Given the description of an element on the screen output the (x, y) to click on. 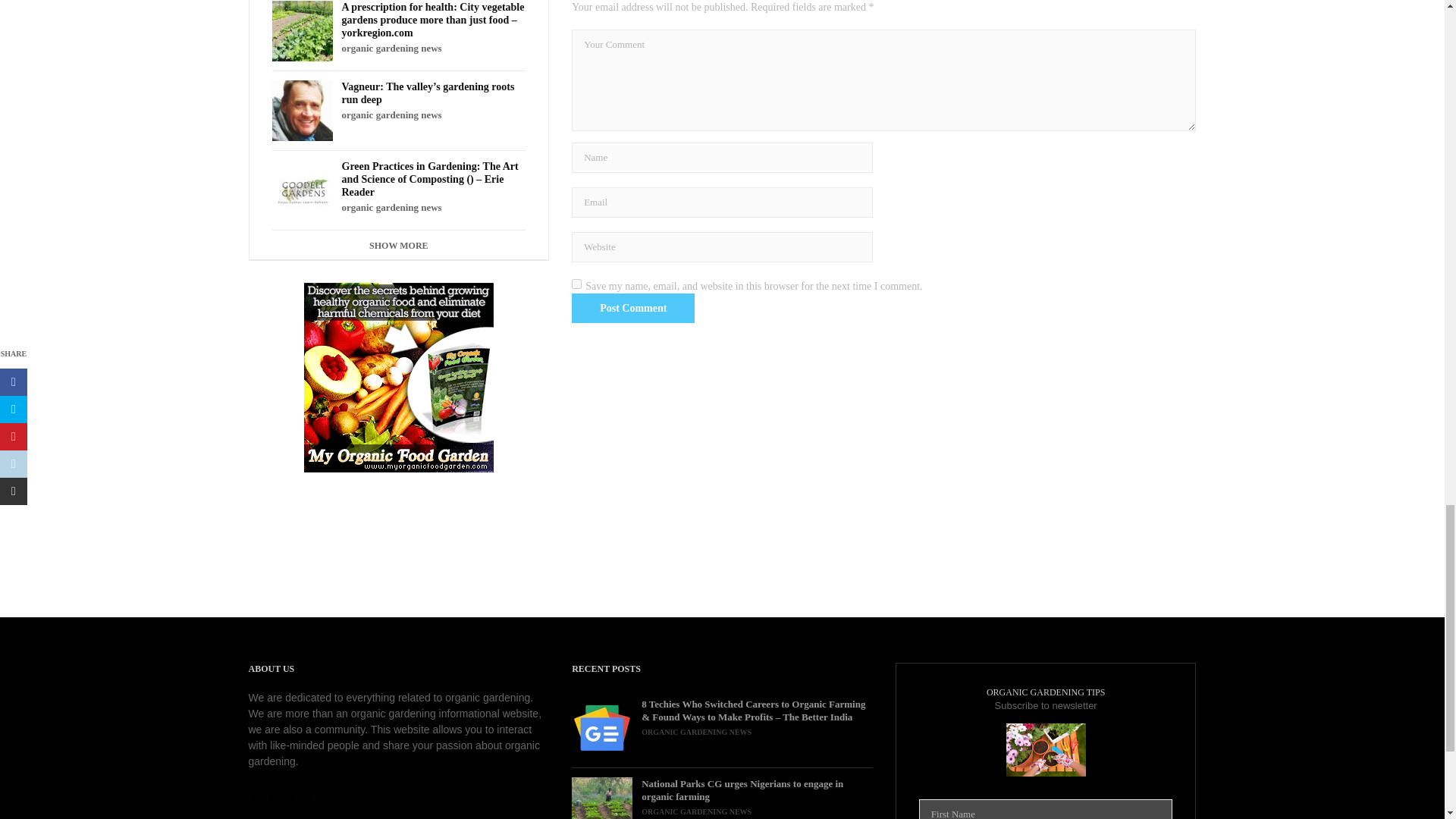
yes (576, 284)
Post Comment (633, 308)
